Given the description of an element on the screen output the (x, y) to click on. 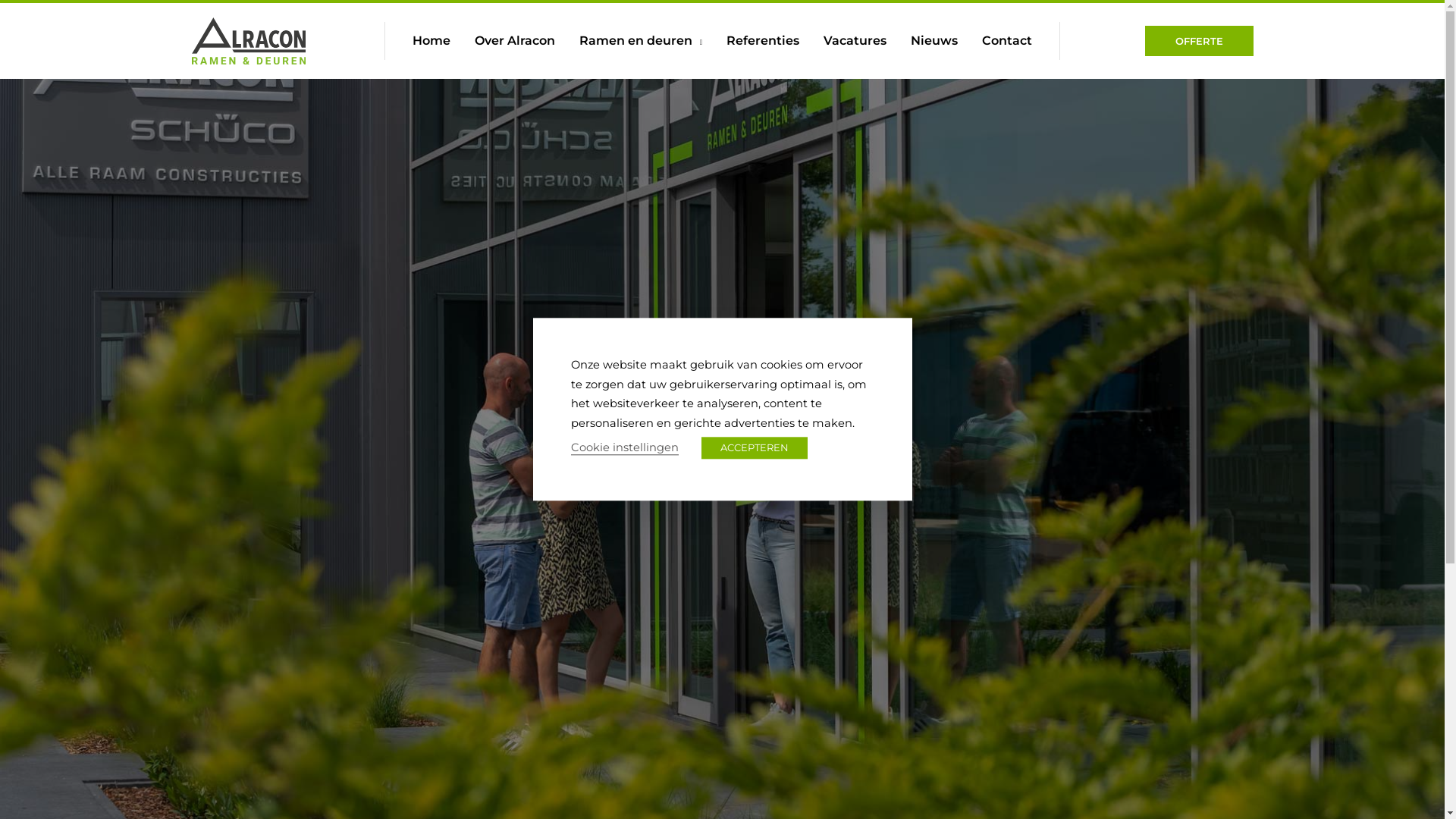
Nieuws Element type: text (933, 40)
Vacatures Element type: text (854, 40)
Over Alracon Element type: text (514, 40)
Referenties Element type: text (762, 40)
Cookie instellingen Element type: text (623, 448)
Ramen en deuren Element type: text (641, 40)
Home Element type: text (431, 40)
Contact Element type: text (1006, 40)
ACCEPTEREN Element type: text (753, 448)
OFFERTE Element type: text (1199, 40)
